Given the description of an element on the screen output the (x, y) to click on. 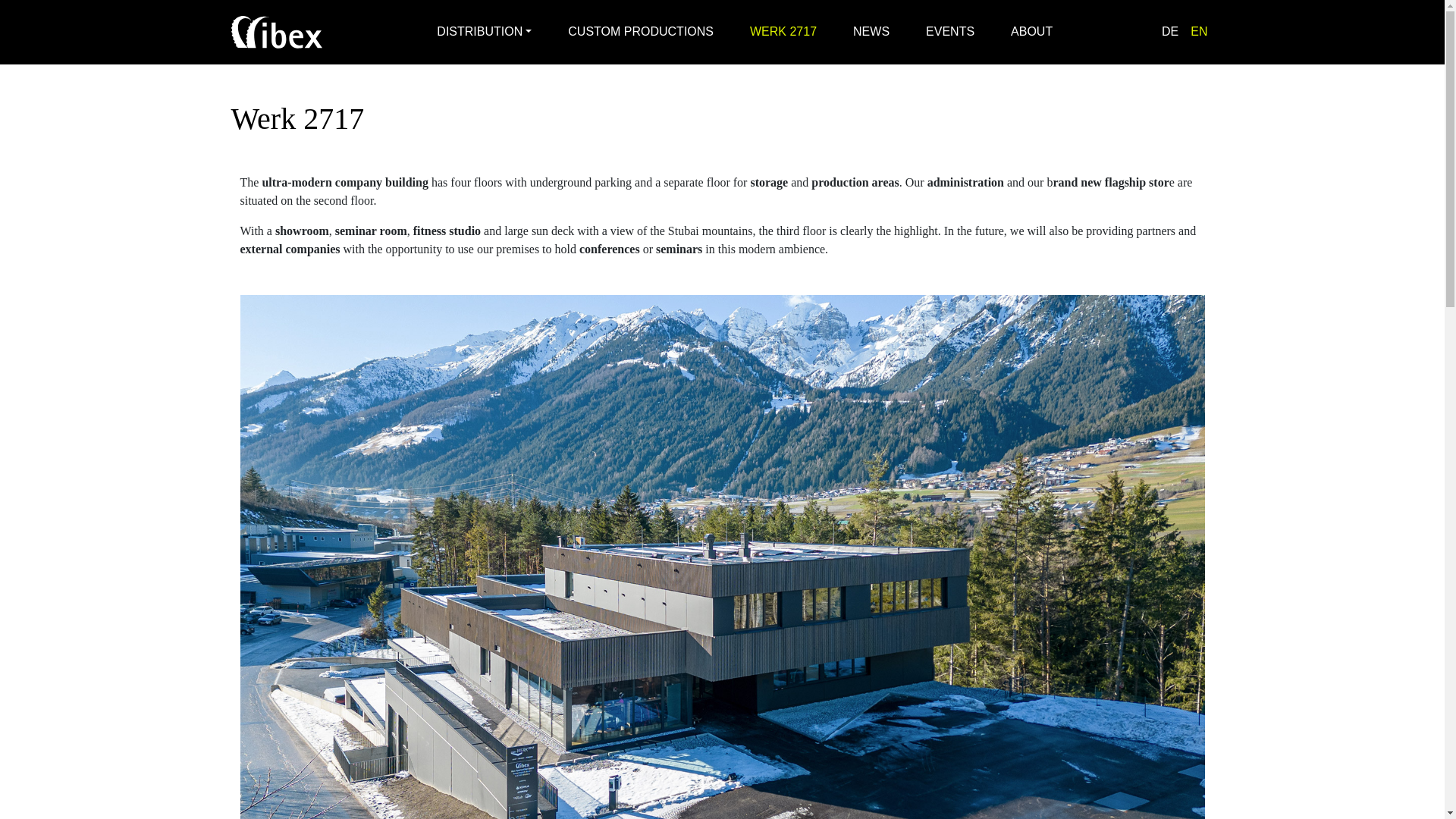
WERK 2717 (783, 31)
CUSTOM PRODUCTIONS (641, 31)
EVENTS (949, 31)
DE (1170, 31)
NEWS (870, 31)
ABOUT (1031, 31)
DISTRIBUTION (484, 31)
EN (1198, 31)
